Given the description of an element on the screen output the (x, y) to click on. 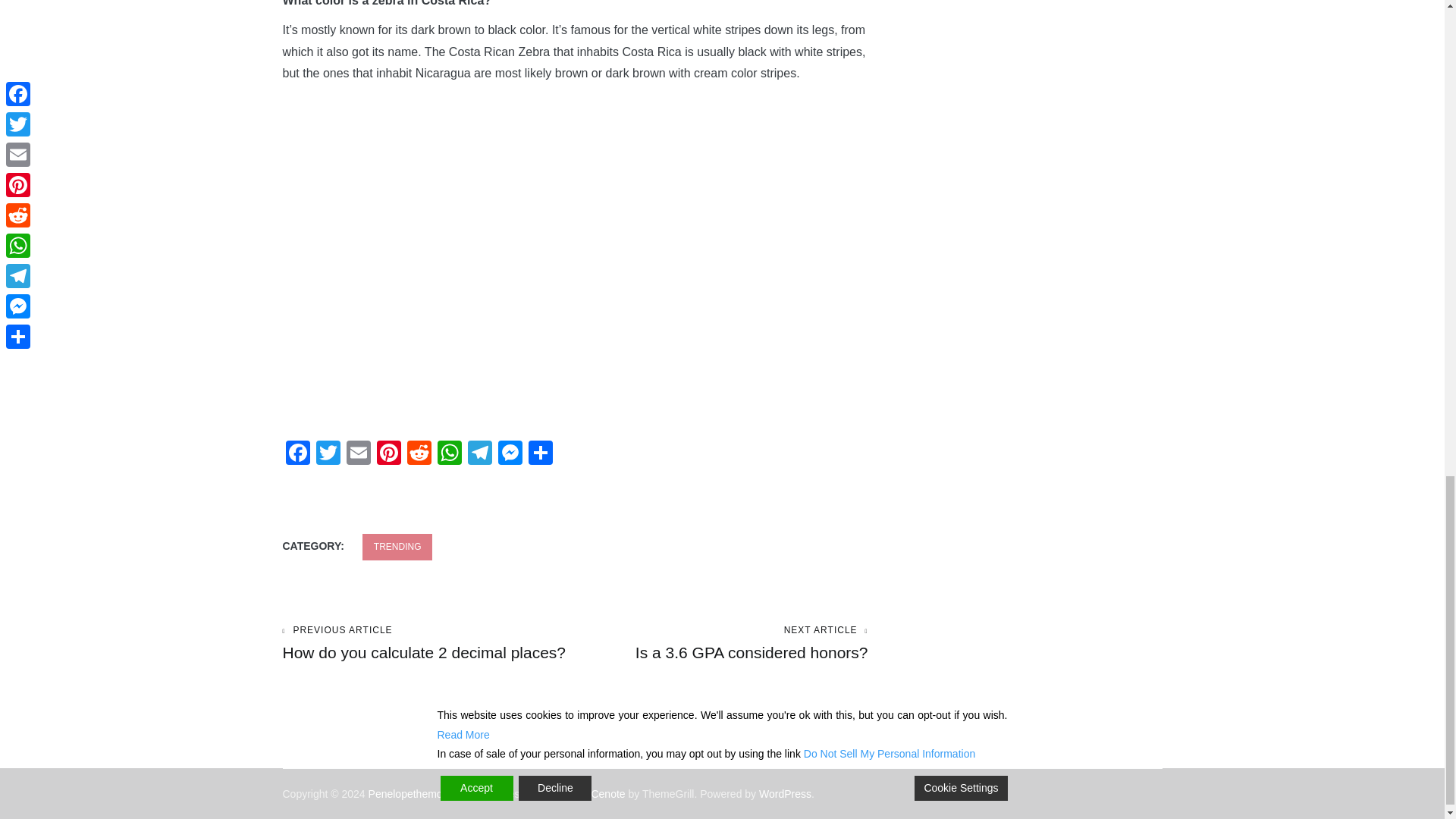
Share (539, 454)
TRENDING (397, 546)
Email (357, 454)
Penelopethemovie (412, 793)
WhatsApp (448, 454)
Pinterest (387, 454)
Telegram (479, 454)
WhatsApp (448, 454)
Facebook (721, 642)
Messenger (297, 454)
Twitter (428, 642)
Email (509, 454)
